Given the description of an element on the screen output the (x, y) to click on. 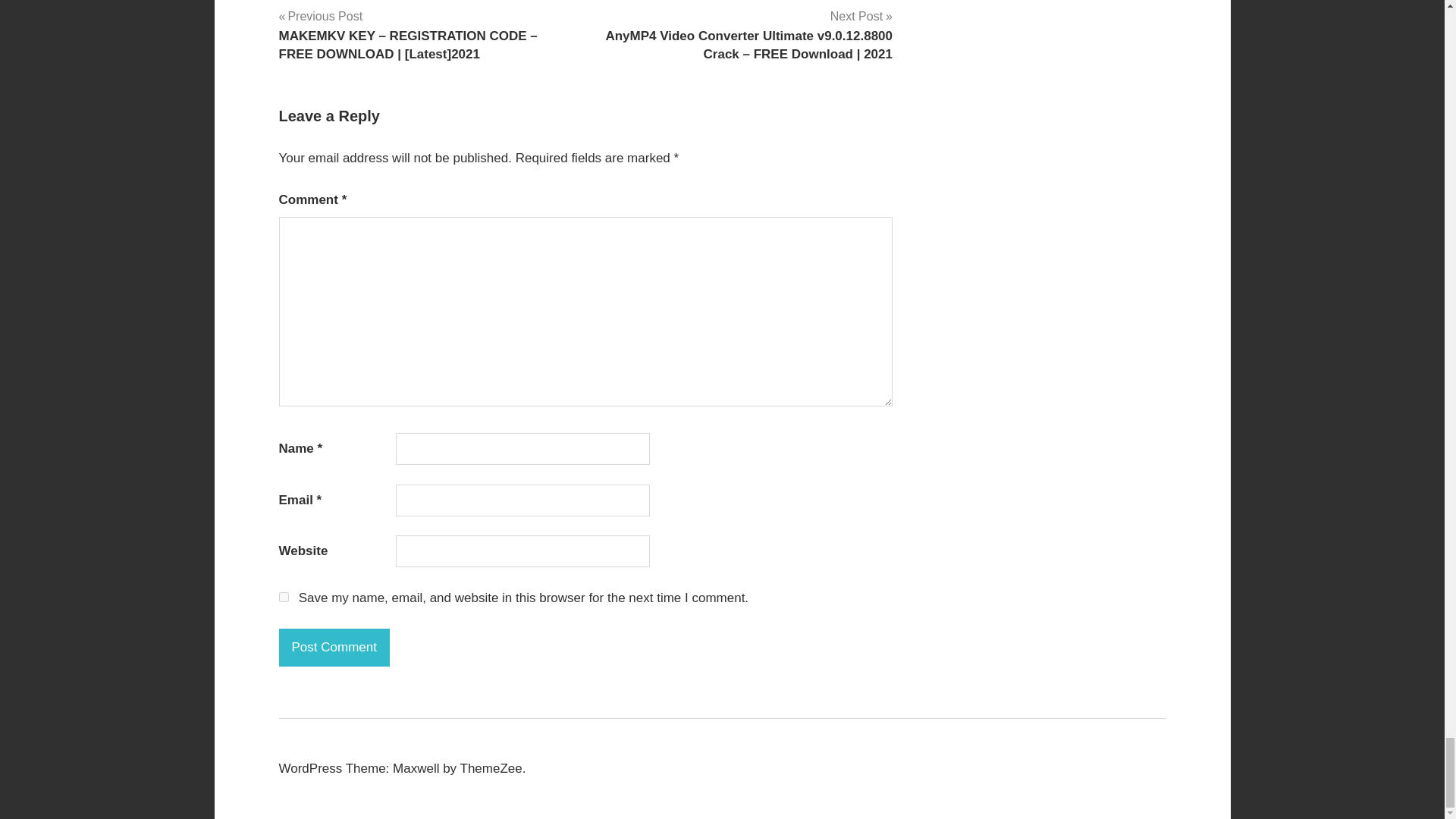
Post Comment (334, 647)
yes (283, 596)
